Given the description of an element on the screen output the (x, y) to click on. 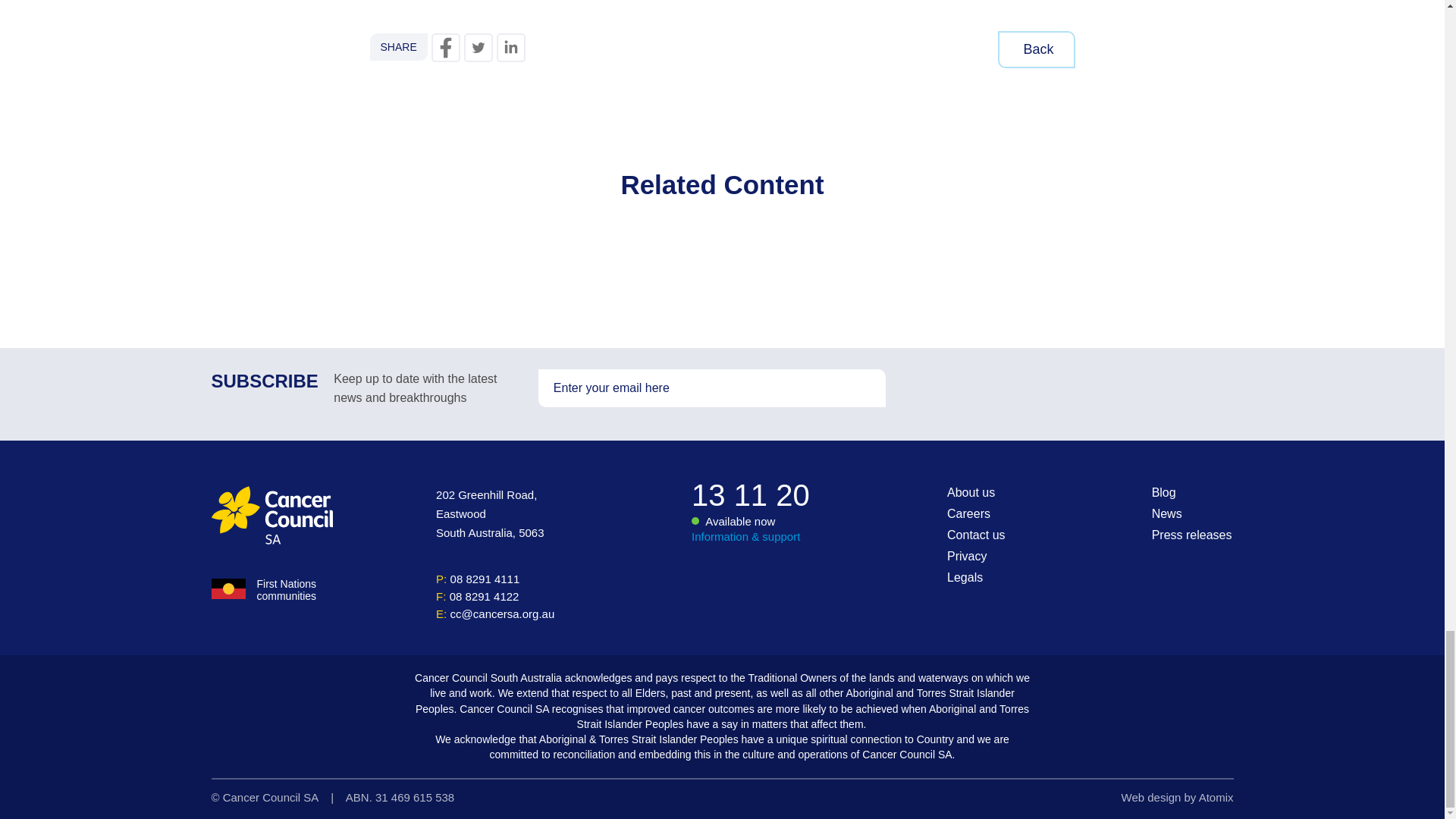
Share on Twitter (478, 47)
Share on Facebook (445, 47)
web design by atomix (1177, 797)
Share on LinkedIn (510, 47)
